Given the description of an element on the screen output the (x, y) to click on. 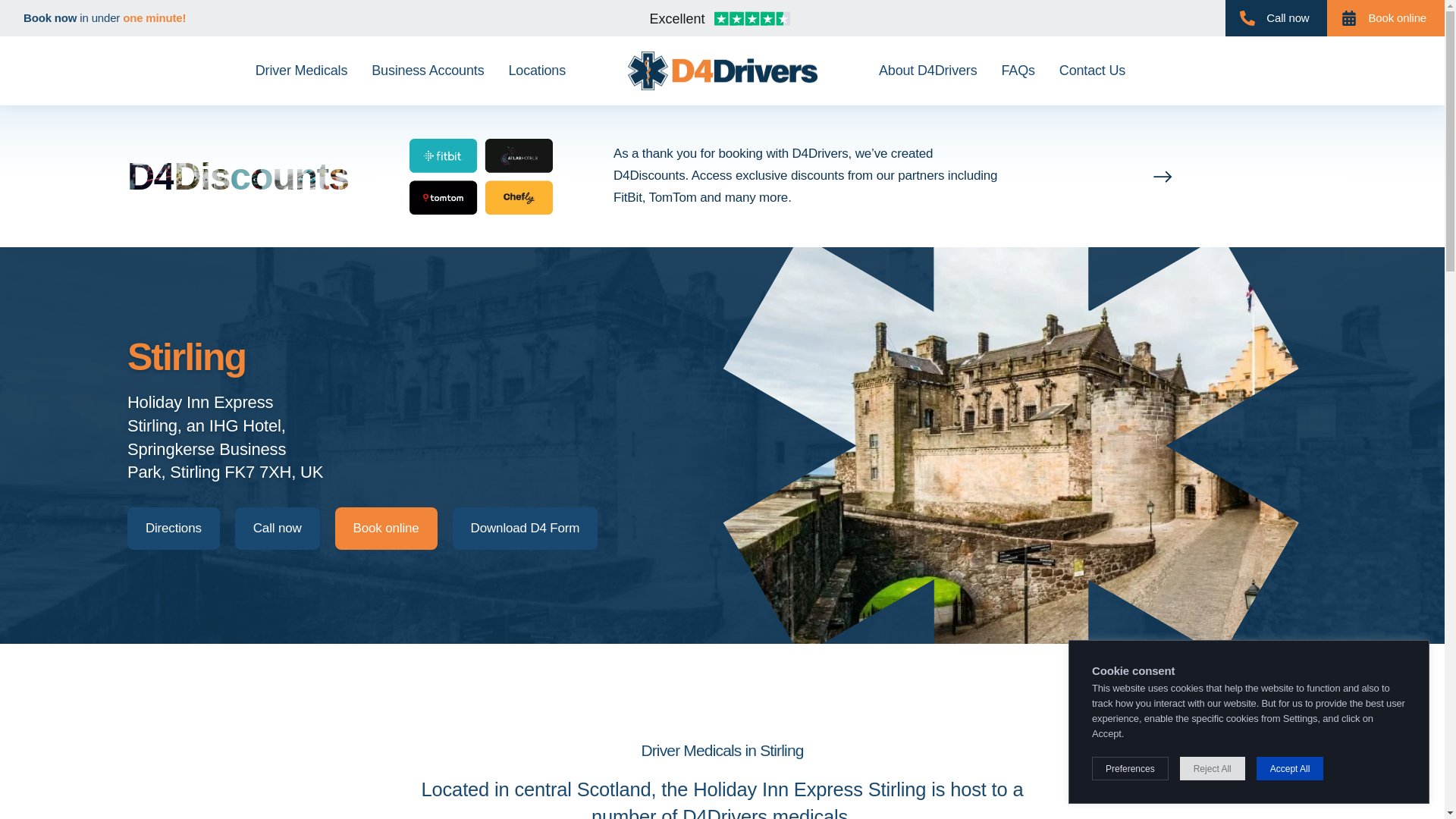
Locations (537, 71)
Download D4 Form (525, 527)
Business Accounts (427, 71)
FAQs (1017, 71)
Contact Us (1091, 71)
Book online (386, 527)
Call now (1275, 18)
Book now (50, 17)
Directions (173, 527)
Call now (277, 527)
Customer reviews powered by Trustpilot (722, 19)
About D4Drivers (928, 71)
Go Home (721, 69)
Driver Medicals (301, 71)
